Given the description of an element on the screen output the (x, y) to click on. 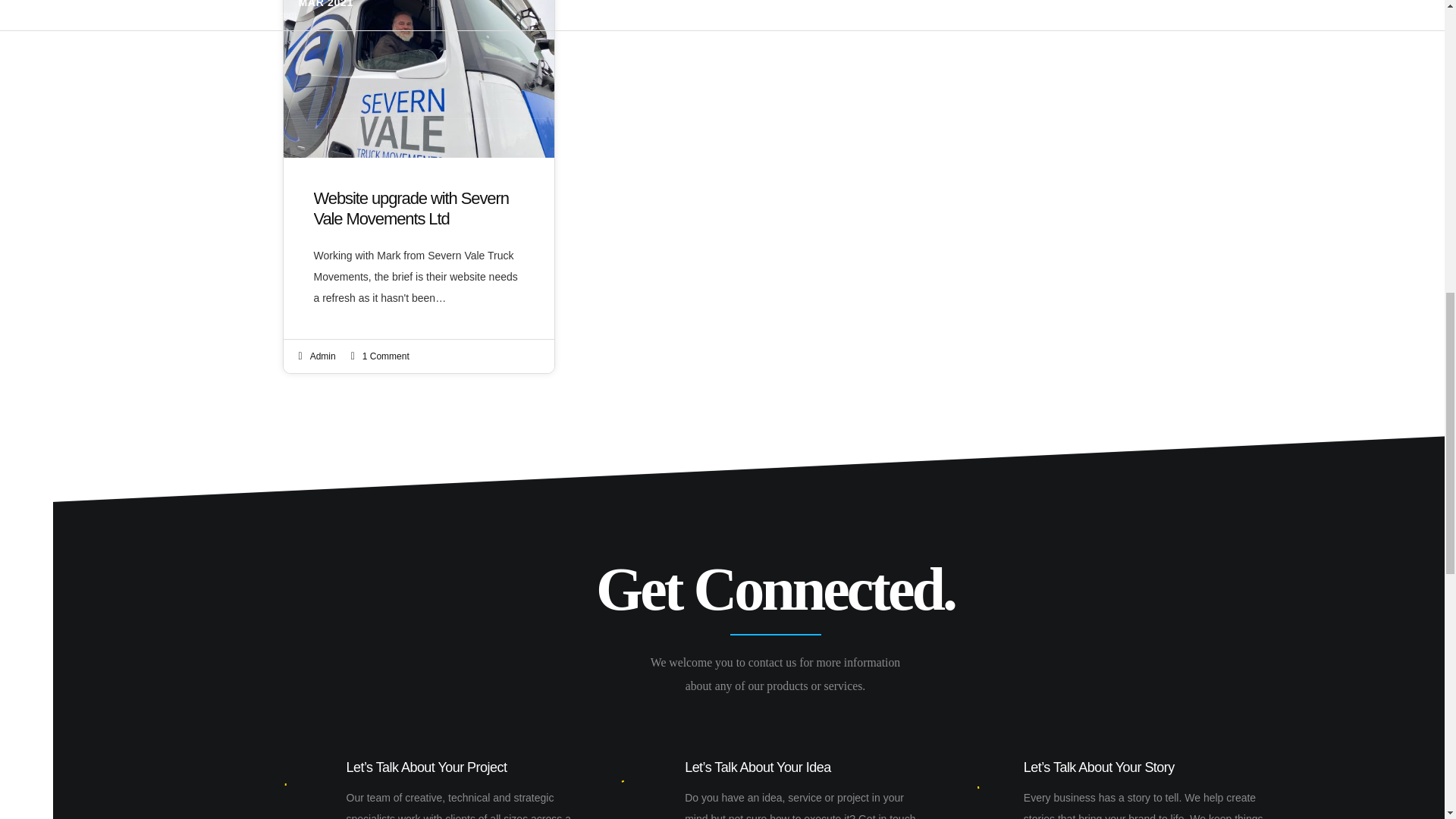
Posts by Admin (323, 356)
Admin (323, 356)
1 Comment (385, 356)
Website upgrade with Severn Vale Movements Ltd (418, 248)
